Given the description of an element on the screen output the (x, y) to click on. 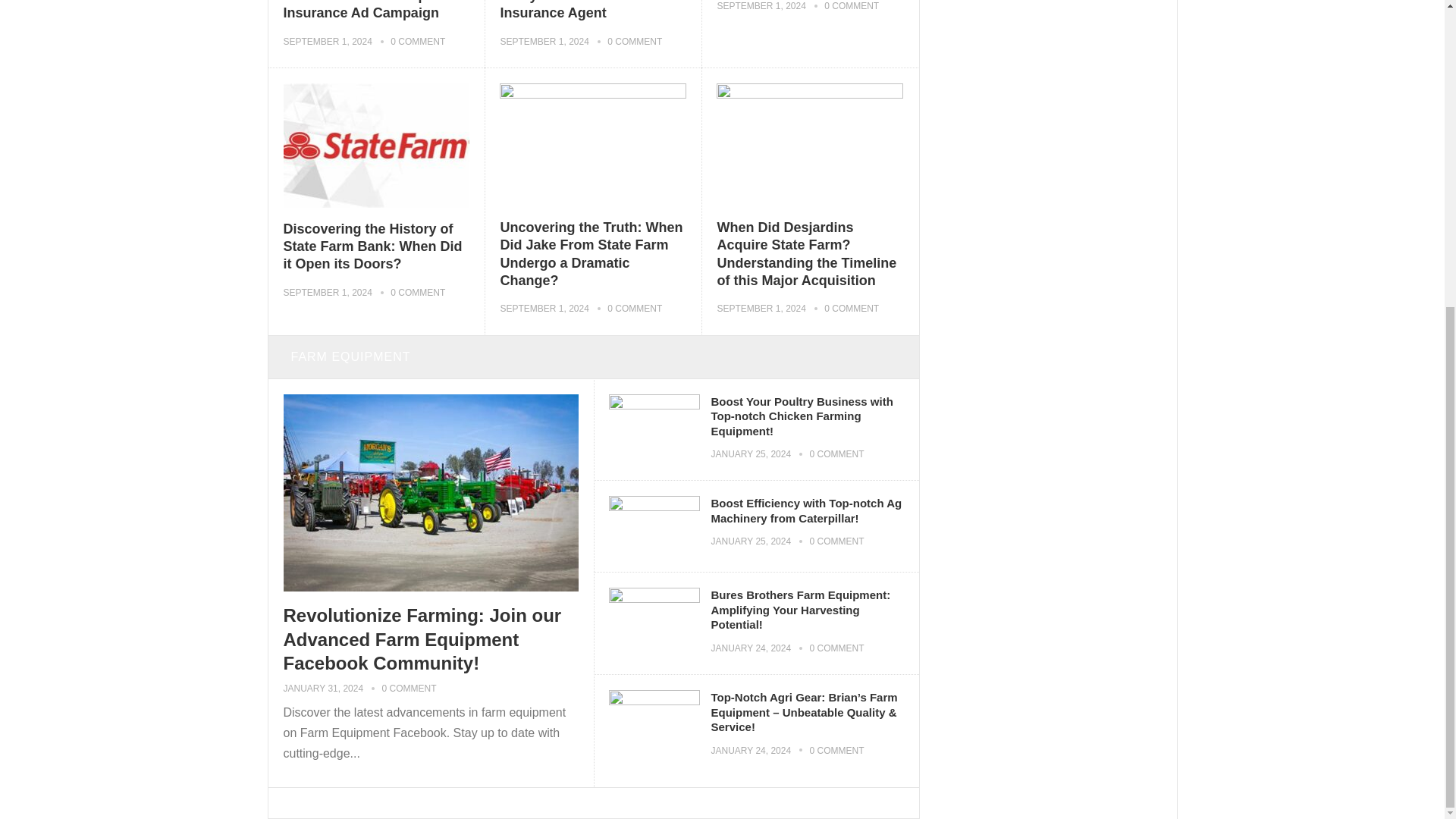
0 COMMENT (417, 41)
0 COMMENT (634, 41)
0 COMMENT (851, 5)
